Given the description of an element on the screen output the (x, y) to click on. 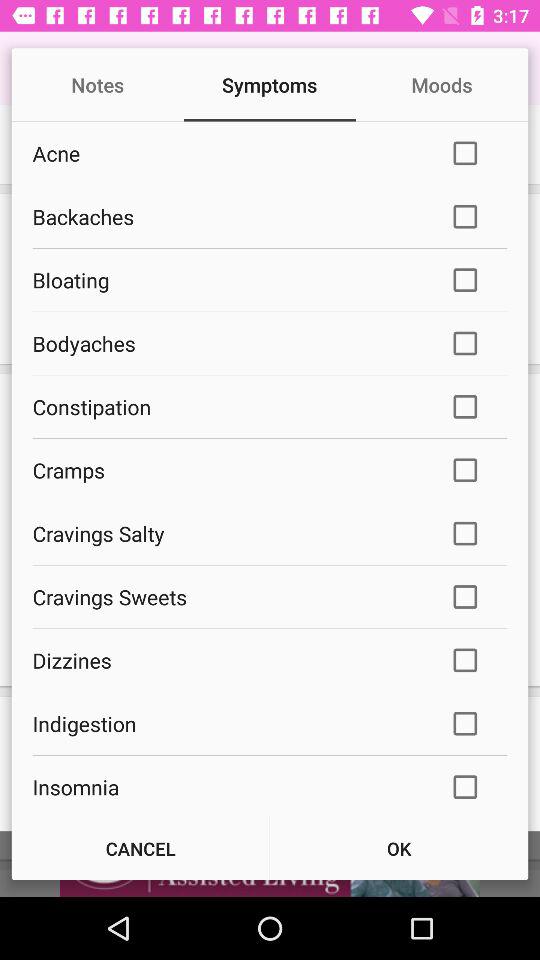
swipe to indigestion (227, 723)
